Given the description of an element on the screen output the (x, y) to click on. 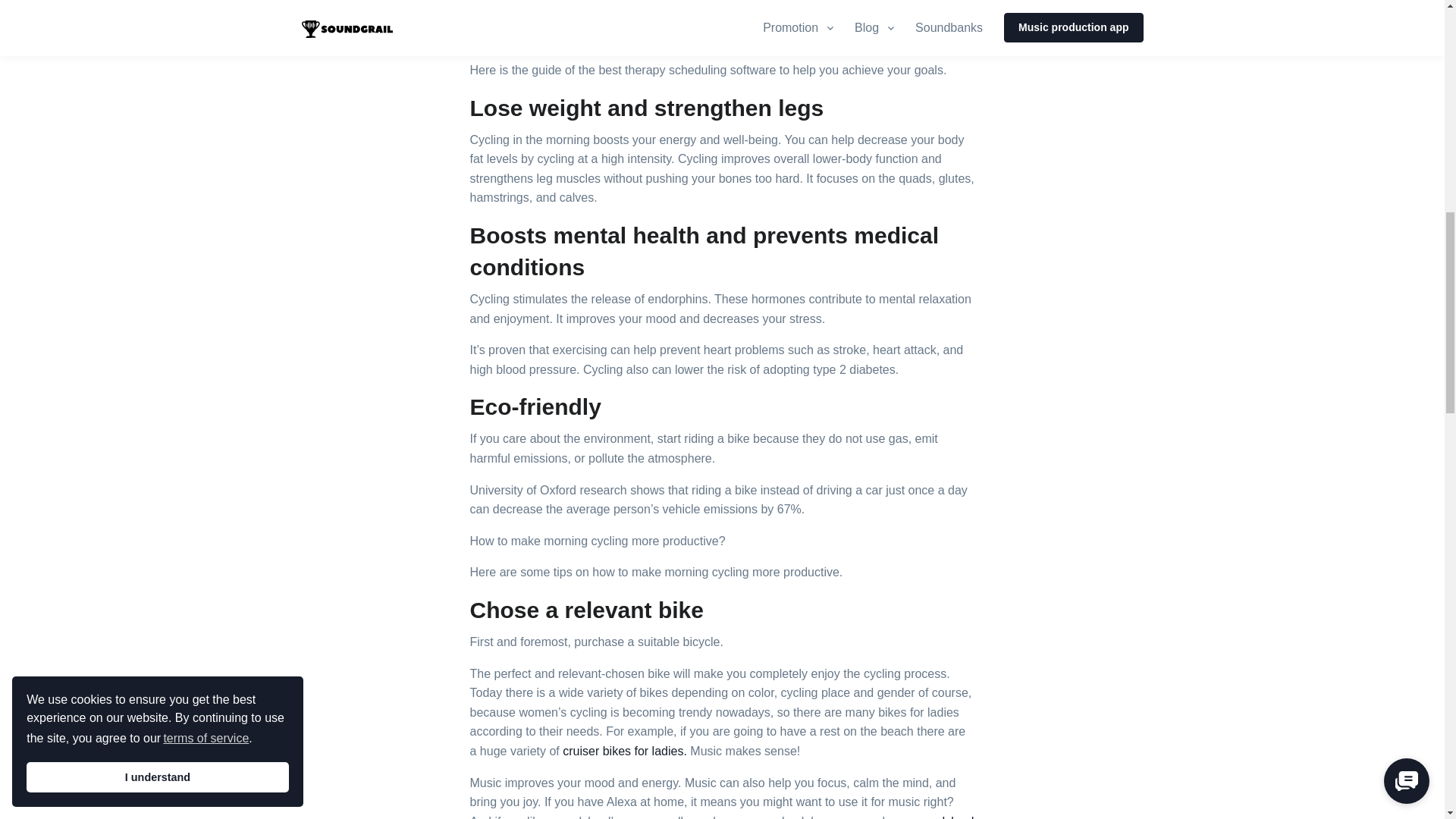
cruiser bikes for ladies. (624, 750)
